Given the description of an element on the screen output the (x, y) to click on. 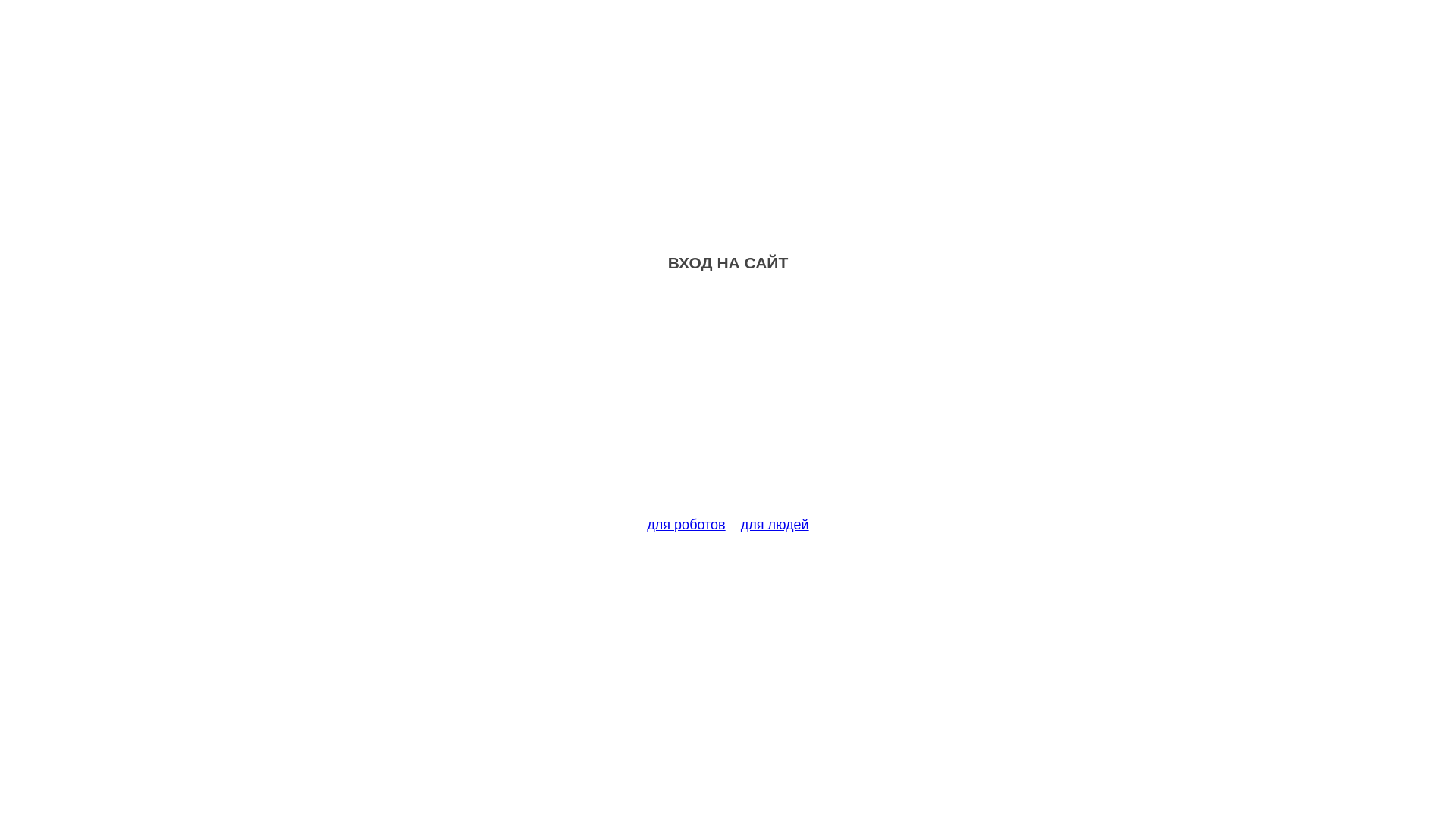
Advertisement Element type: hover (727, 403)
